Given the description of an element on the screen output the (x, y) to click on. 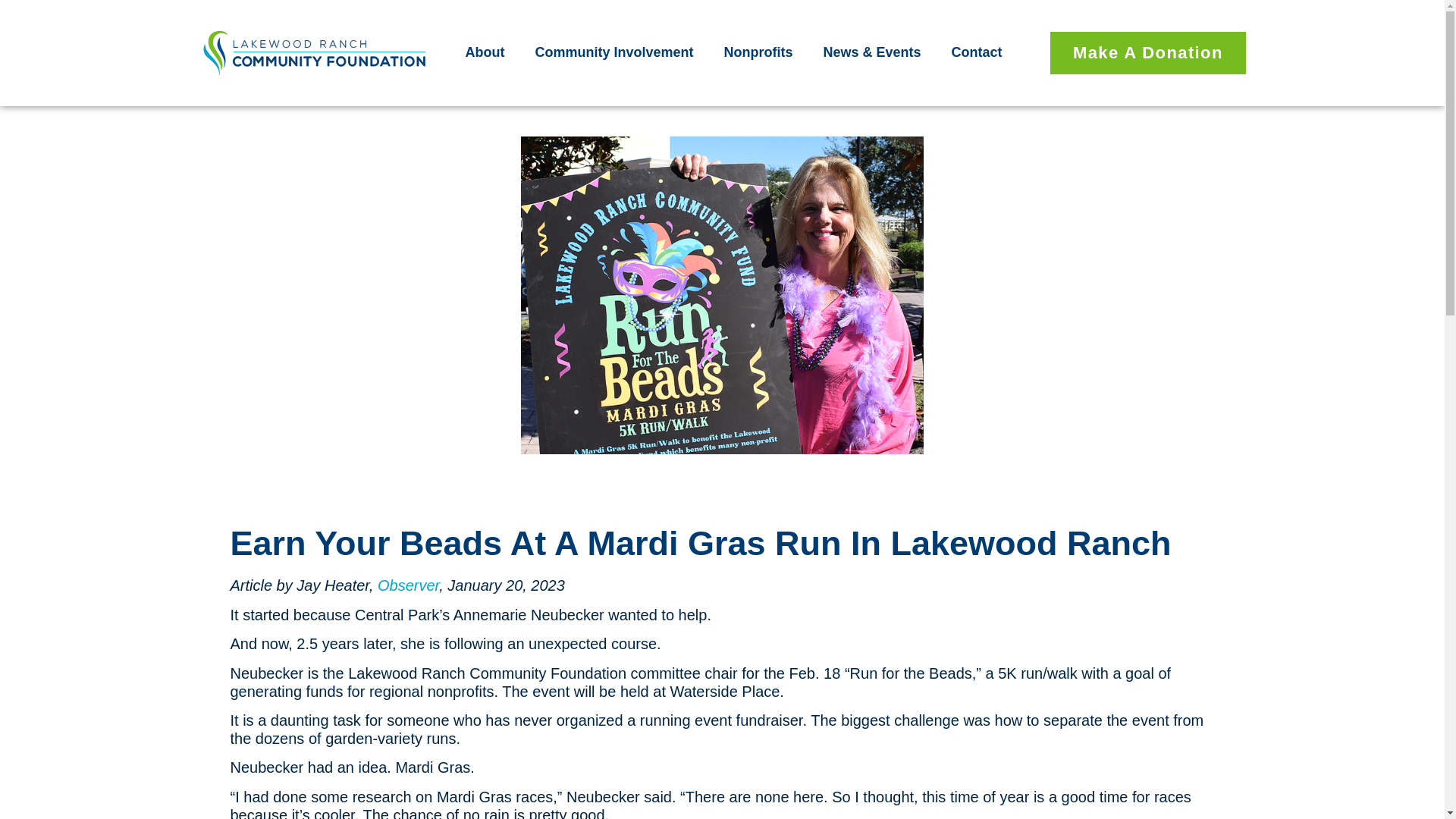
Community Involvement (617, 52)
About (488, 52)
Make A Donation (1147, 52)
Contact (977, 52)
Nonprofits (761, 52)
